Given the description of an element on the screen output the (x, y) to click on. 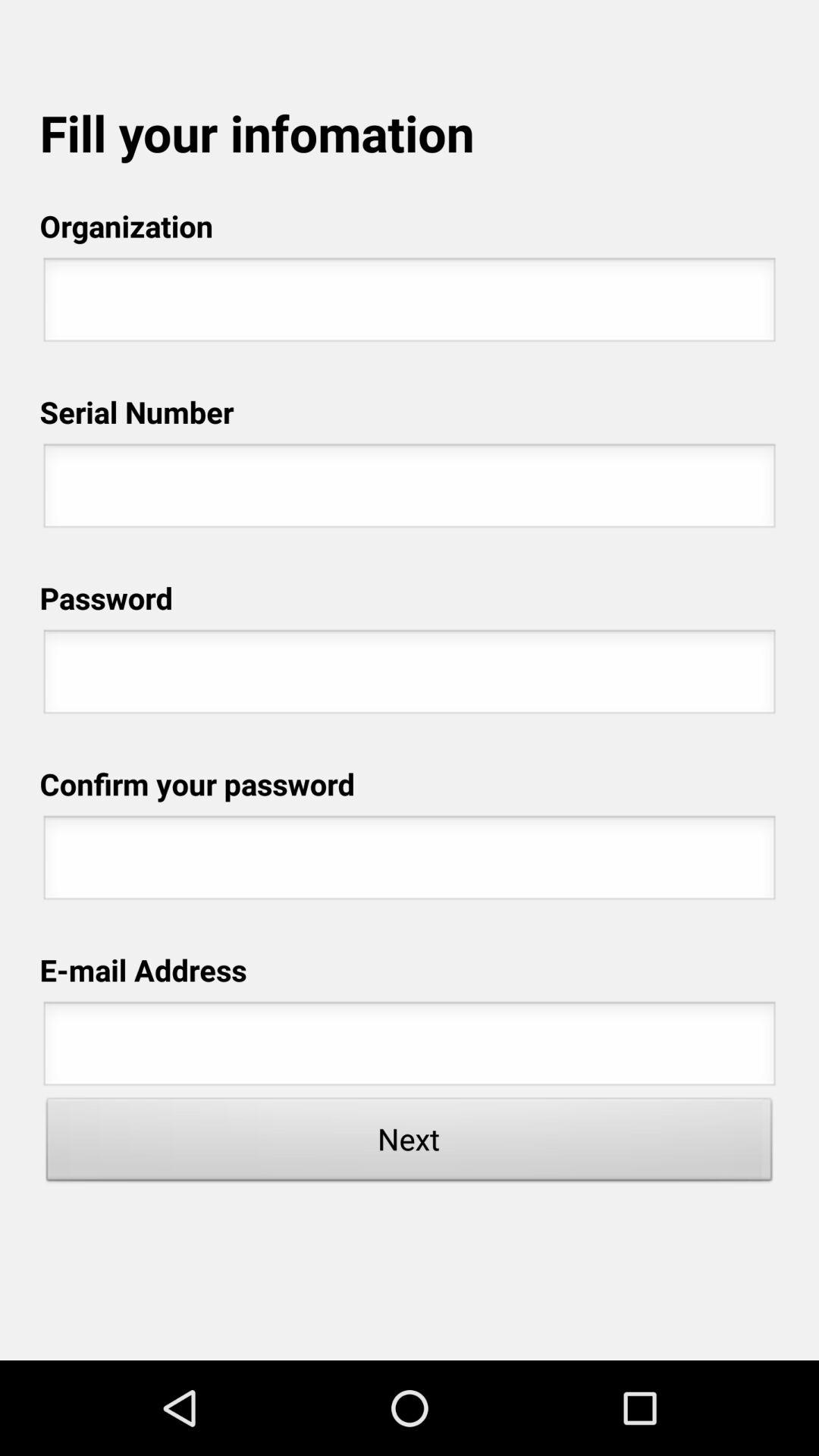
type in password (409, 862)
